Given the description of an element on the screen output the (x, y) to click on. 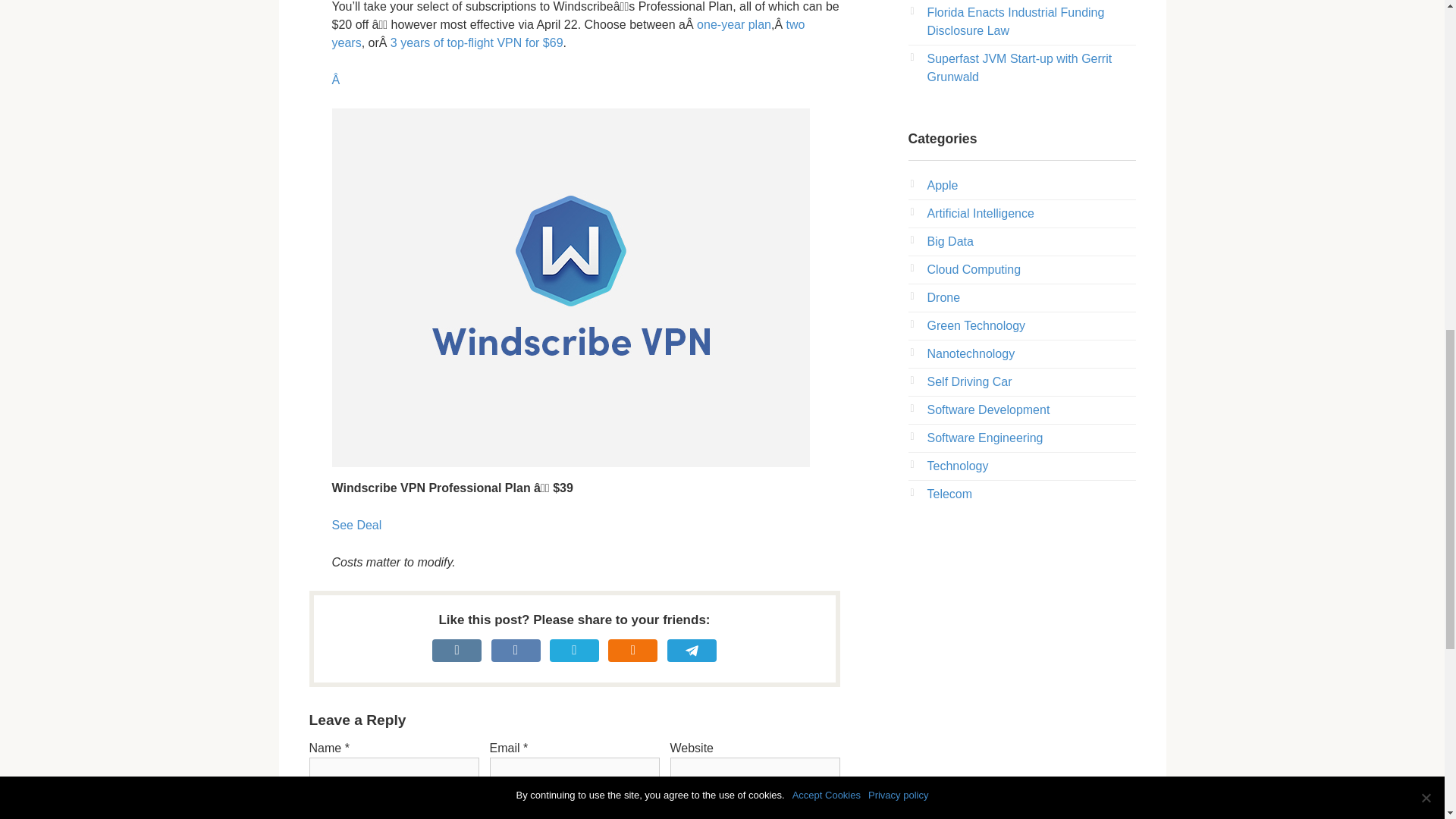
Self Driving Car (968, 381)
Big Data (949, 241)
two years (568, 33)
one-year plan (734, 24)
Cloud Computing (973, 269)
Apple (942, 185)
Drone (942, 297)
Software Development (987, 409)
Florida Enacts Industrial Funding Disclosure Law (1014, 20)
Green Technology (975, 325)
Nanotechnology (970, 353)
Telecom (949, 493)
Superfast JVM Start-up with Gerrit Grunwald (1019, 67)
See Deal (356, 524)
Software Engineering (984, 437)
